Given the description of an element on the screen output the (x, y) to click on. 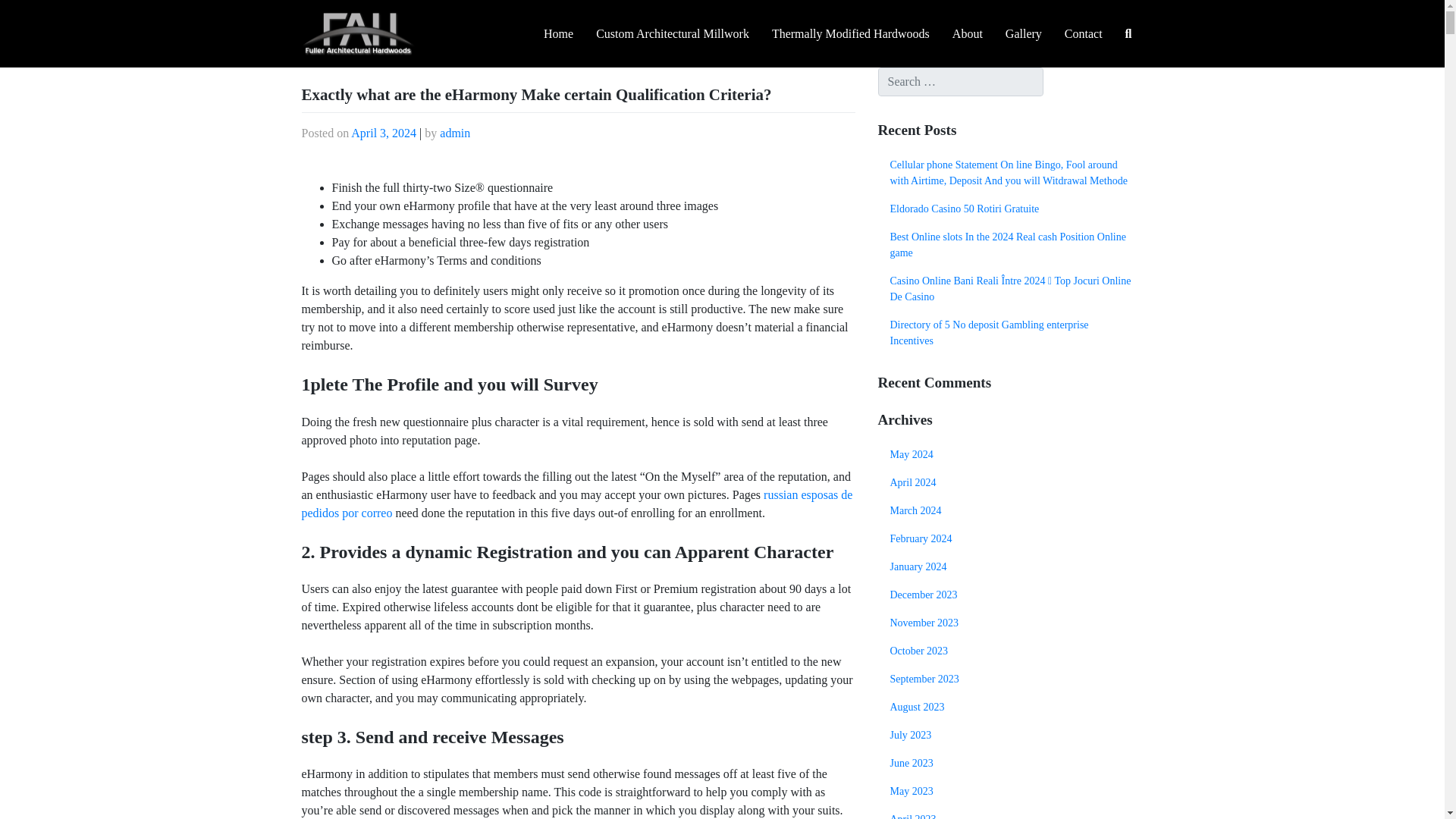
Directory of 5 No deposit Gambling enterprise Incentives (1009, 332)
russian esposas de pedidos por correo (577, 503)
January 2024 (1009, 566)
May 2024 (1009, 454)
October 2023 (1009, 651)
Contact (1082, 34)
March 2024 (1009, 510)
Contact (1082, 34)
Search (26, 14)
December 2023 (1009, 594)
Eldorado Casino 50 Rotiri Gratuite (1009, 208)
August 2023 (1009, 706)
Thermally Modified Hardwoods (850, 34)
Thermally Modified Hardwoods (850, 34)
June 2023 (1009, 763)
